Given the description of an element on the screen output the (x, y) to click on. 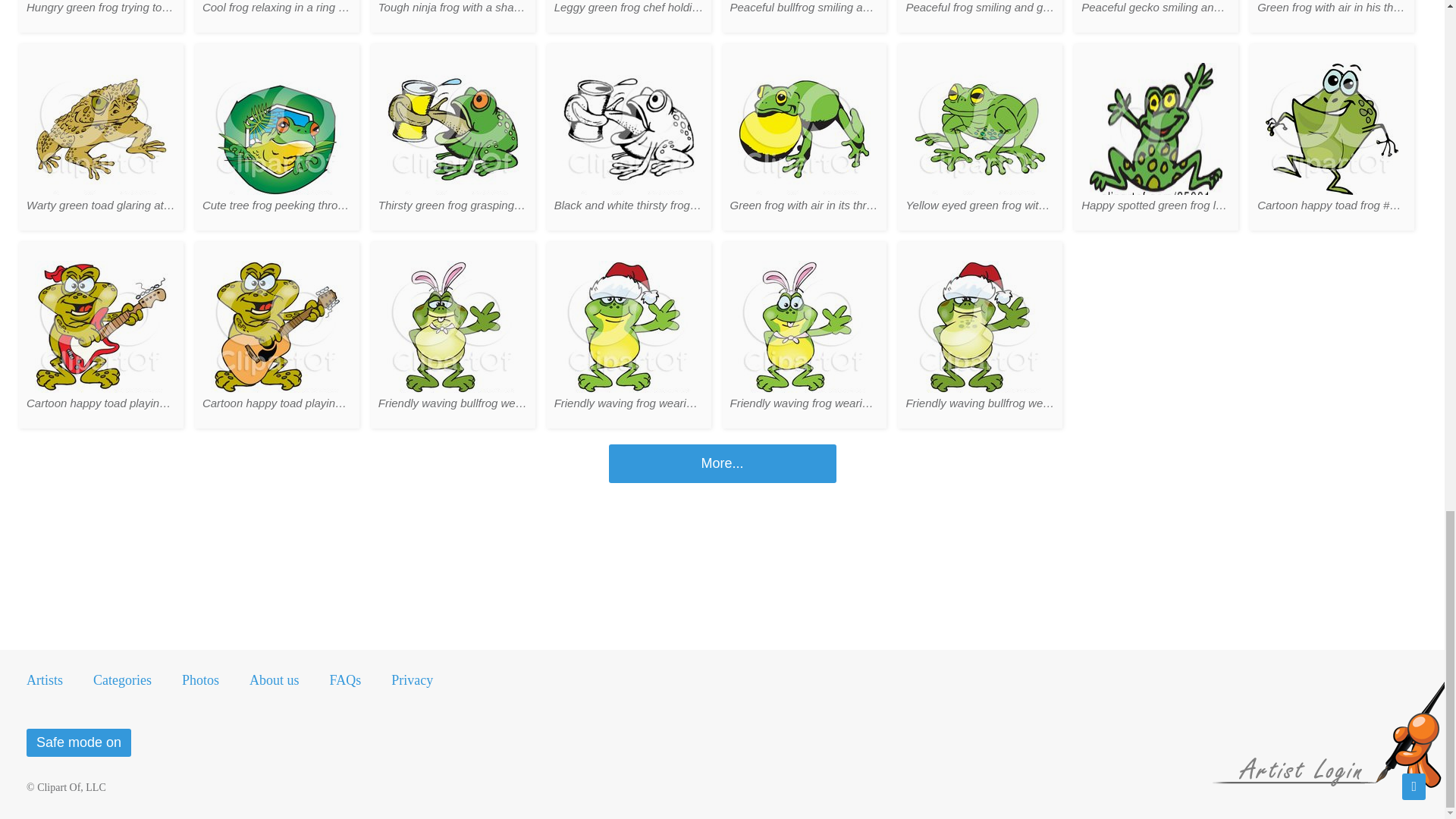
Frog Clip Art (721, 463)
Display explicit graphics. (78, 742)
